Given the description of an element on the screen output the (x, y) to click on. 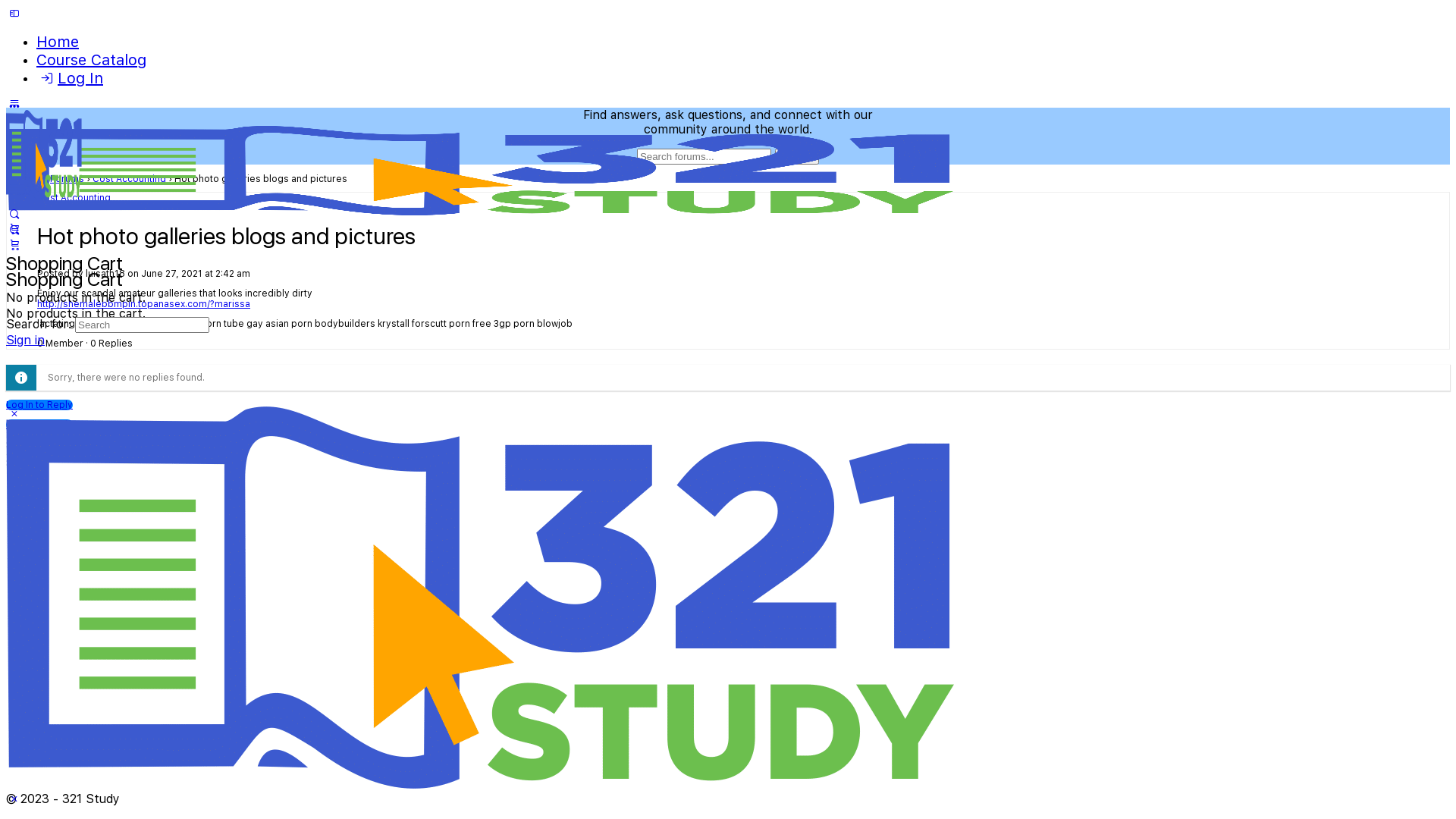
http://shemalebbmpin.topanasex.com/?marissa Element type: text (143, 303)
Course Catalog Element type: text (91, 59)
Search Element type: text (797, 156)
Cost Accounting Element type: text (129, 178)
Landing Element type: text (23, 178)
Cost Accounting Element type: text (73, 197)
Start of Discussion Element type: text (53, 444)
Home Element type: text (57, 41)
Sign in Element type: text (25, 339)
Log In Element type: text (69, 78)
Forums Element type: text (67, 178)
Log In to Reply Element type: text (39, 424)
Log In to Reply Element type: text (39, 404)
Now Element type: text (21, 465)
